Given the description of an element on the screen output the (x, y) to click on. 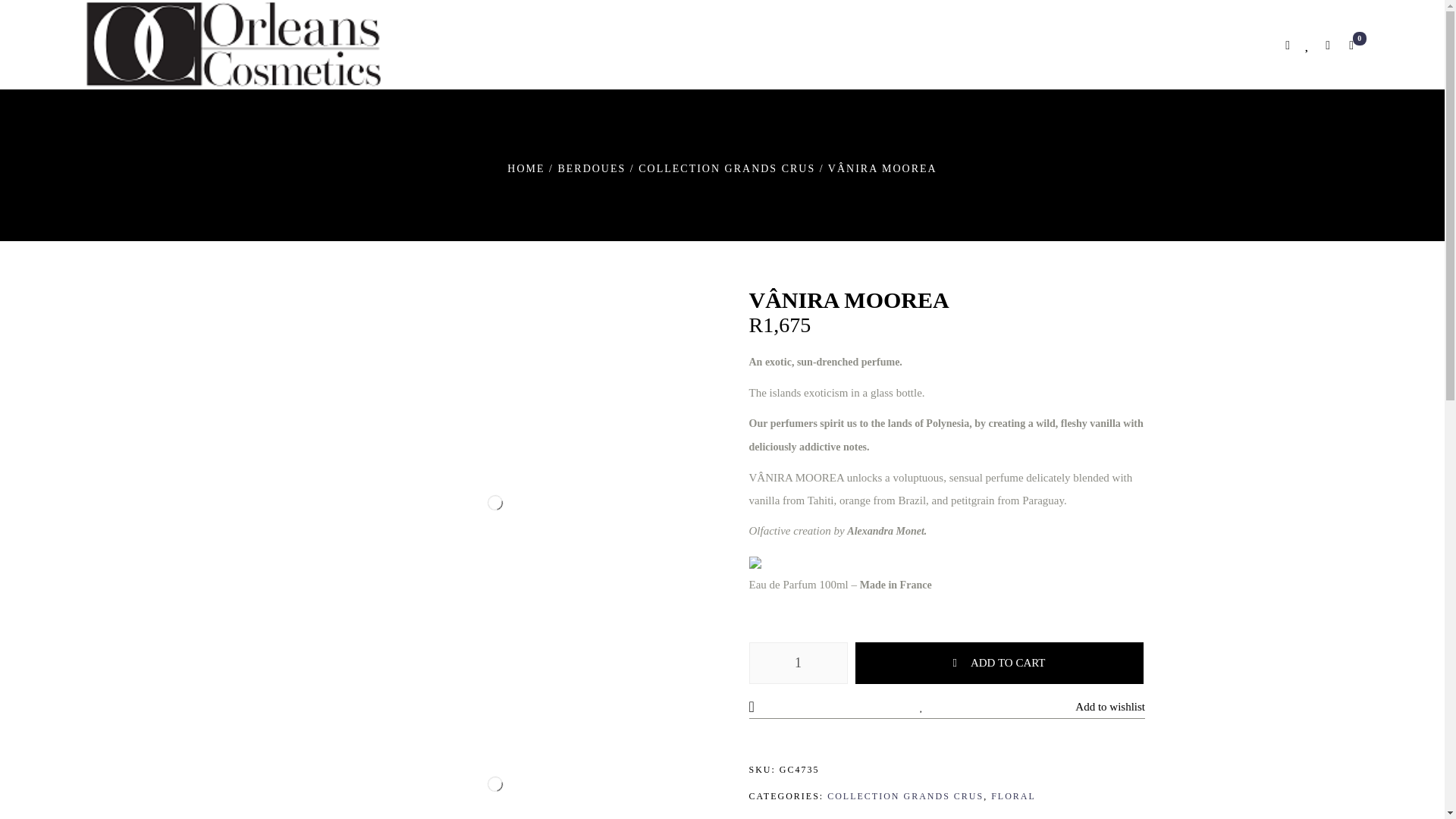
BERDOUES (591, 168)
1 (798, 662)
HOME (525, 168)
COLLECTION GRANDS CRUS (727, 168)
